Given the description of an element on the screen output the (x, y) to click on. 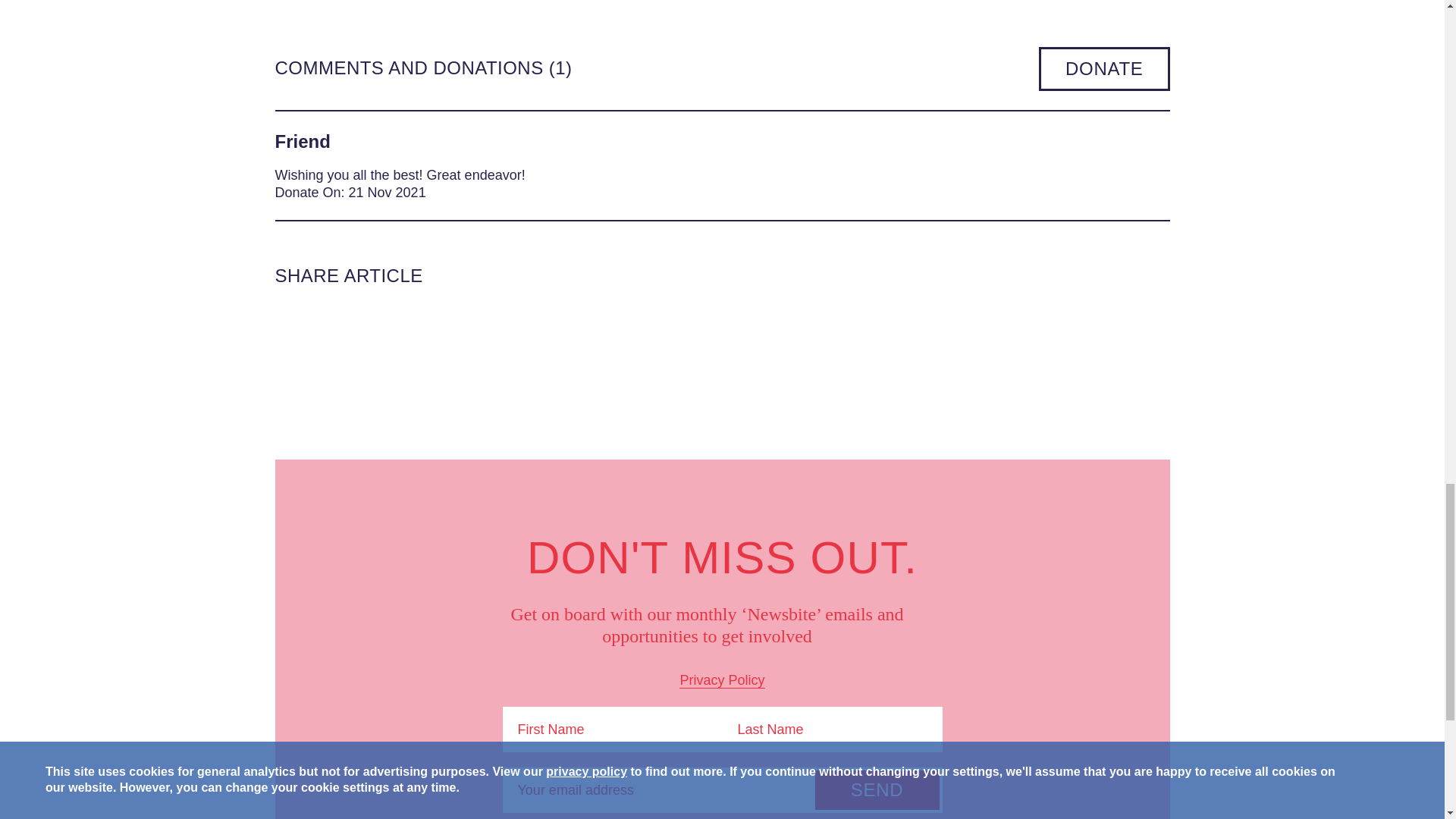
Privacy Policy (721, 680)
DONATE (1104, 68)
twitter (296, 331)
facebook (353, 331)
mail (408, 331)
SEND (876, 789)
whatsapp (465, 331)
